Given the description of an element on the screen output the (x, y) to click on. 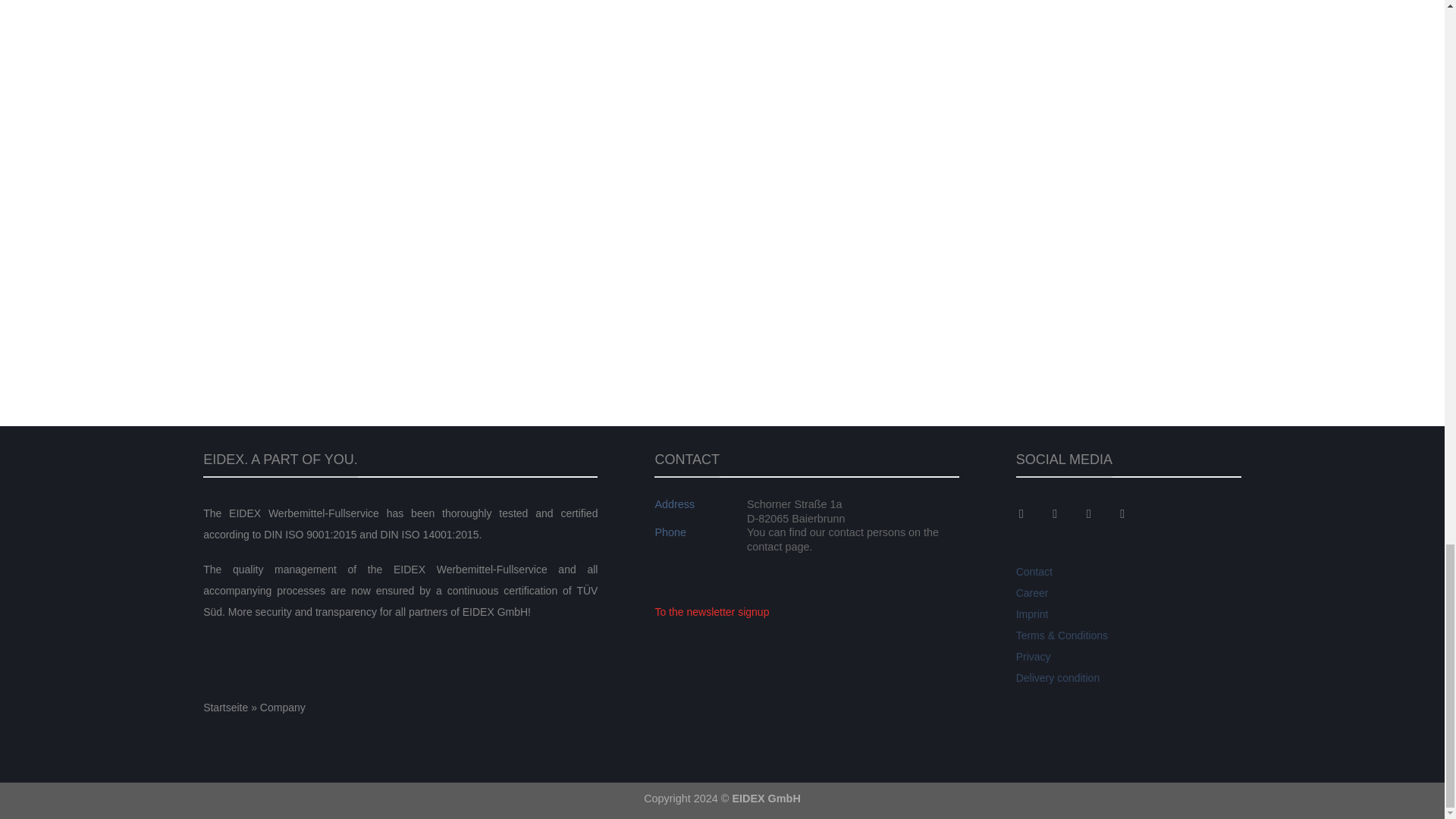
Startseite (225, 707)
Follow on Facebook (1032, 513)
Imprint (1032, 613)
Follow on Instagram (1066, 513)
Follow on YouTube (1133, 513)
Follow on LinkedIn (1099, 513)
Career (1032, 592)
Contact (1034, 571)
To the newsletter signup (710, 612)
